Given the description of an element on the screen output the (x, y) to click on. 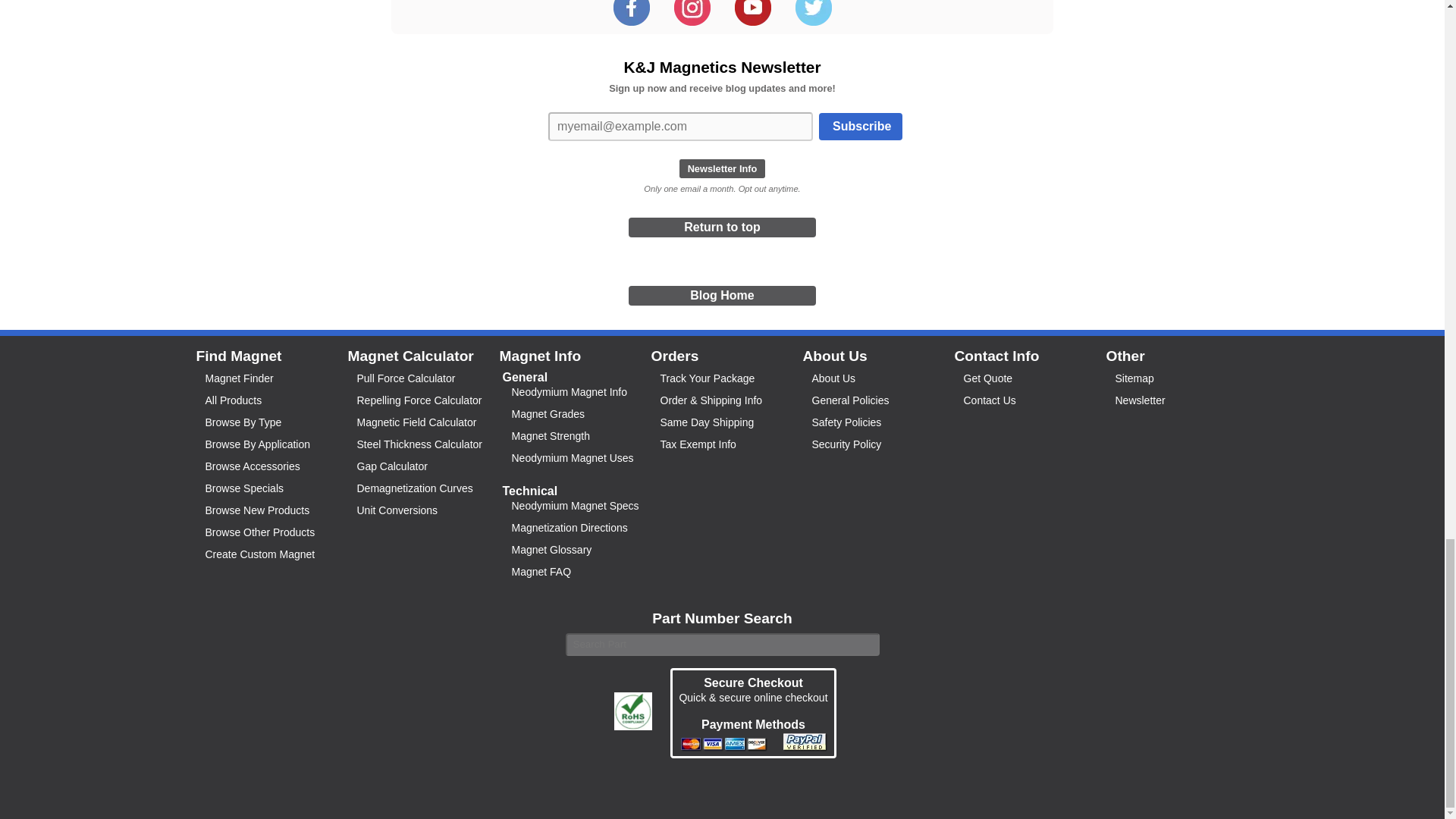
Learn more about online orders (724, 747)
Twitter (812, 21)
YouTube (751, 21)
Subscribe  (860, 126)
RoHS Compliant (633, 711)
Learn more about online orders (804, 747)
Facebook (630, 21)
Instagram (691, 21)
